Given the description of an element on the screen output the (x, y) to click on. 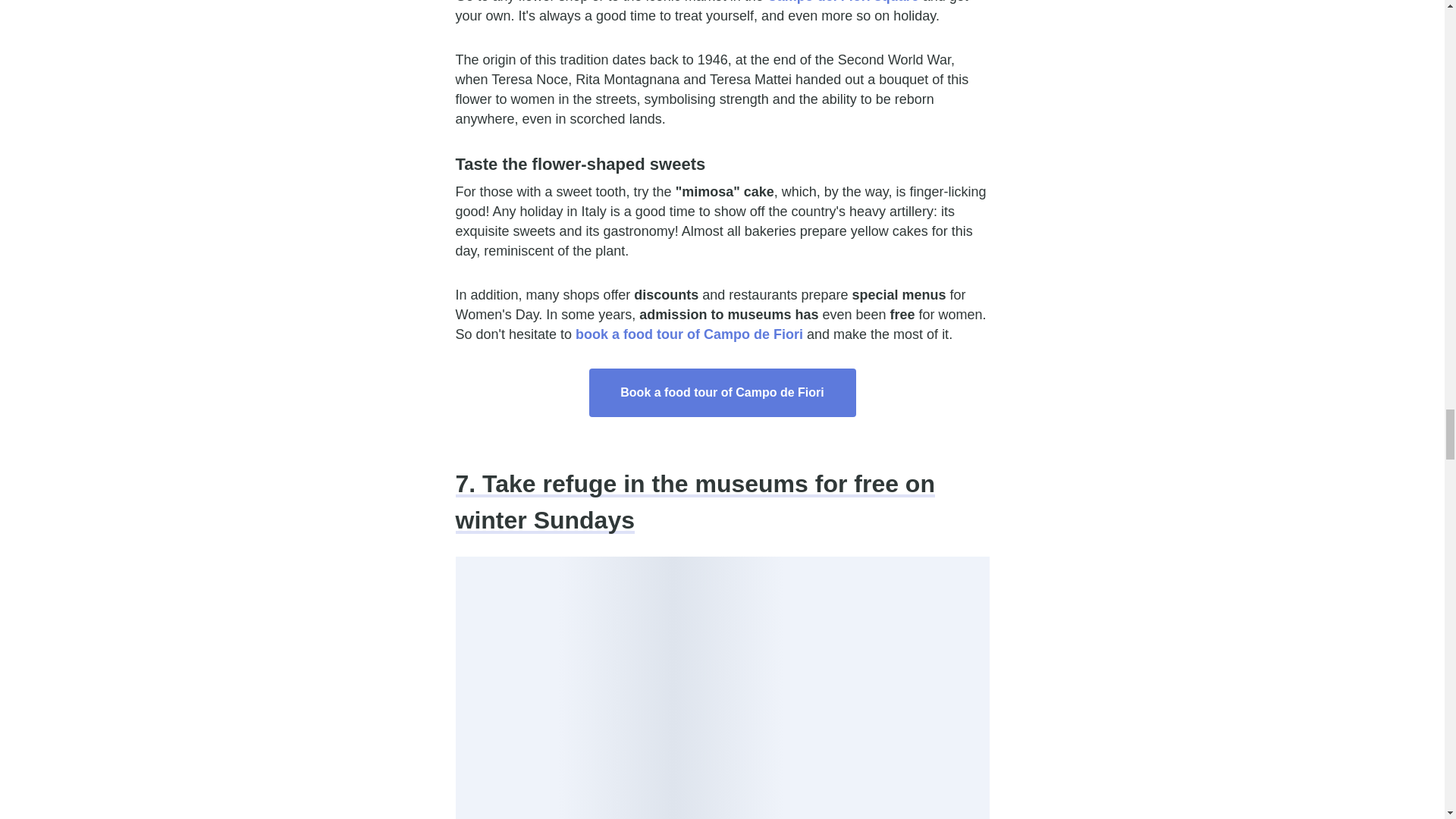
Book a food tour of Campo de Fiori (722, 392)
book a food tour of Campo de Fiori (689, 334)
Campo dei Fiori square (842, 2)
